Given the description of an element on the screen output the (x, y) to click on. 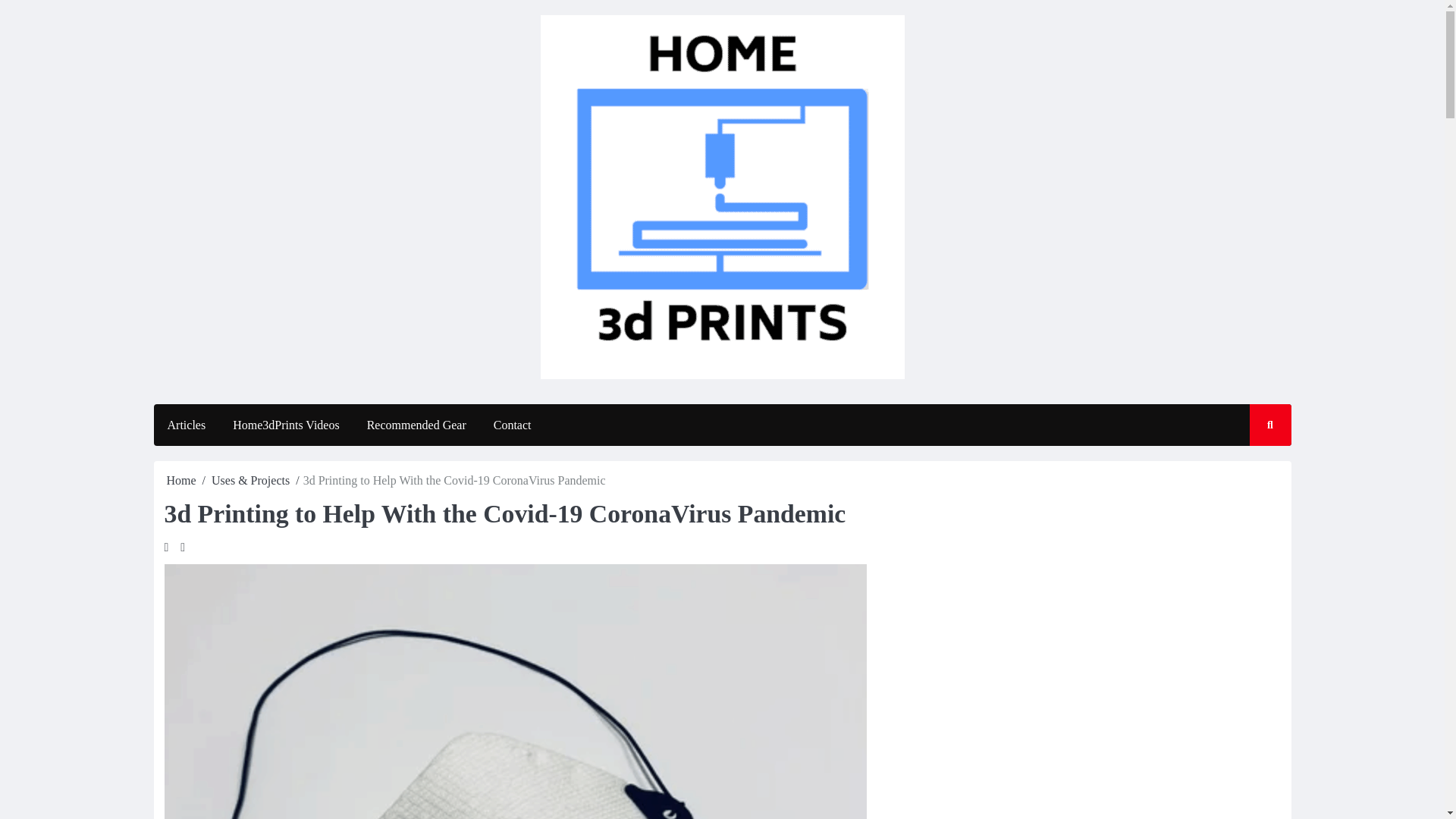
Articles (185, 425)
Home3dPrints Videos (286, 425)
Search (1256, 469)
Recommended Gear (416, 425)
Home (181, 480)
Contact (512, 425)
